Given the description of an element on the screen output the (x, y) to click on. 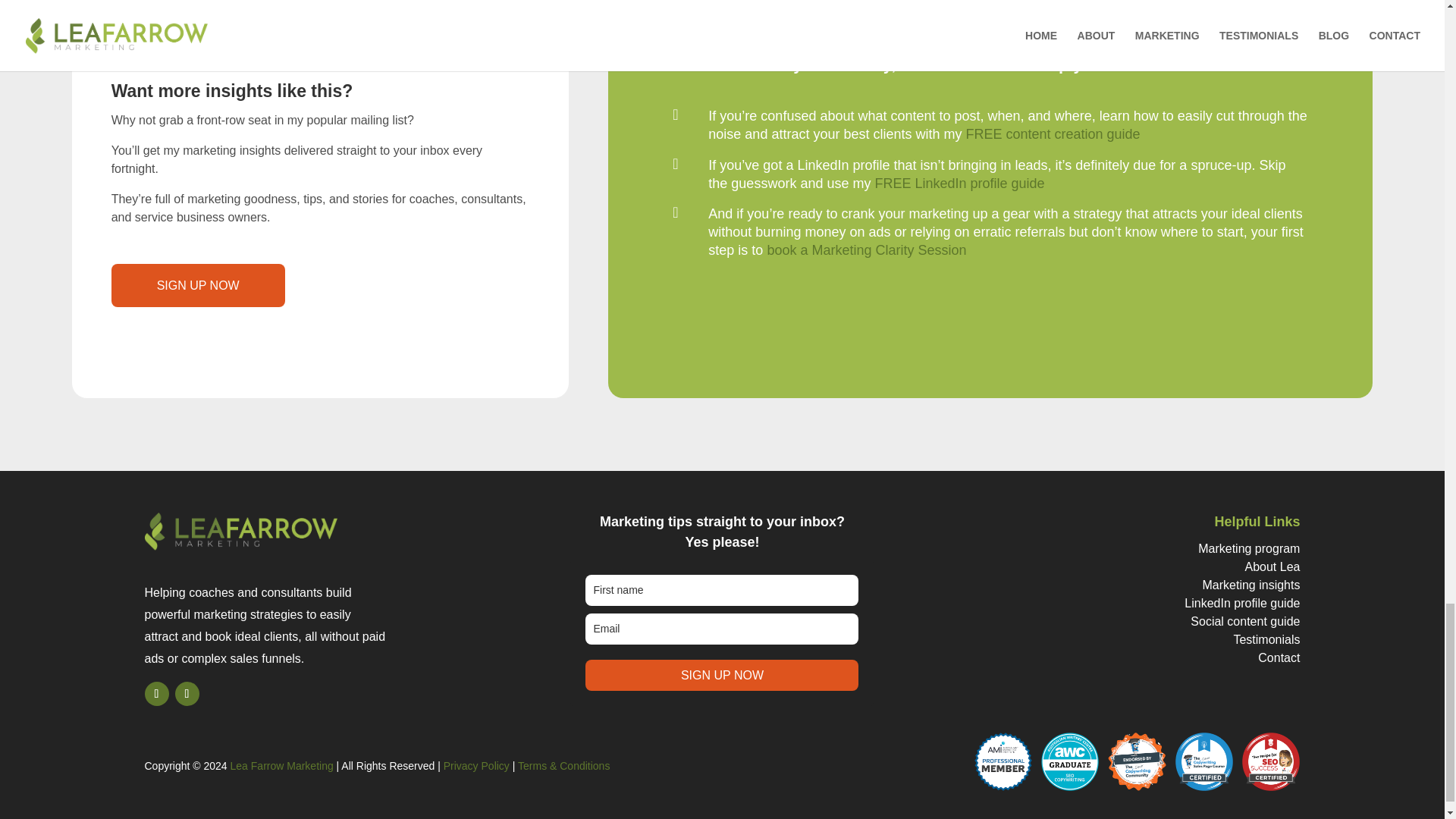
Social content guide (1245, 621)
Follow on LinkedIn (156, 693)
FREE LinkedIn profile guide (959, 183)
LinkedIn profile guide (1242, 603)
Freelance-SEO-copywriter-TCCS-Sales-Page-Course-certified (1203, 761)
Freelance-SEO-copywriter-TCCS-endorsed-badge (1137, 761)
LFM logo transparent (240, 531)
About Lea (1272, 566)
Lea Farrow Marketing (281, 766)
Follow on Pinterest (186, 693)
Marketing insights (1251, 584)
Freelance-SEO-copywriter-The Recipe for SEO Success badge (1270, 761)
Contact (1278, 657)
FREE content creation guide (1052, 133)
